Given the description of an element on the screen output the (x, y) to click on. 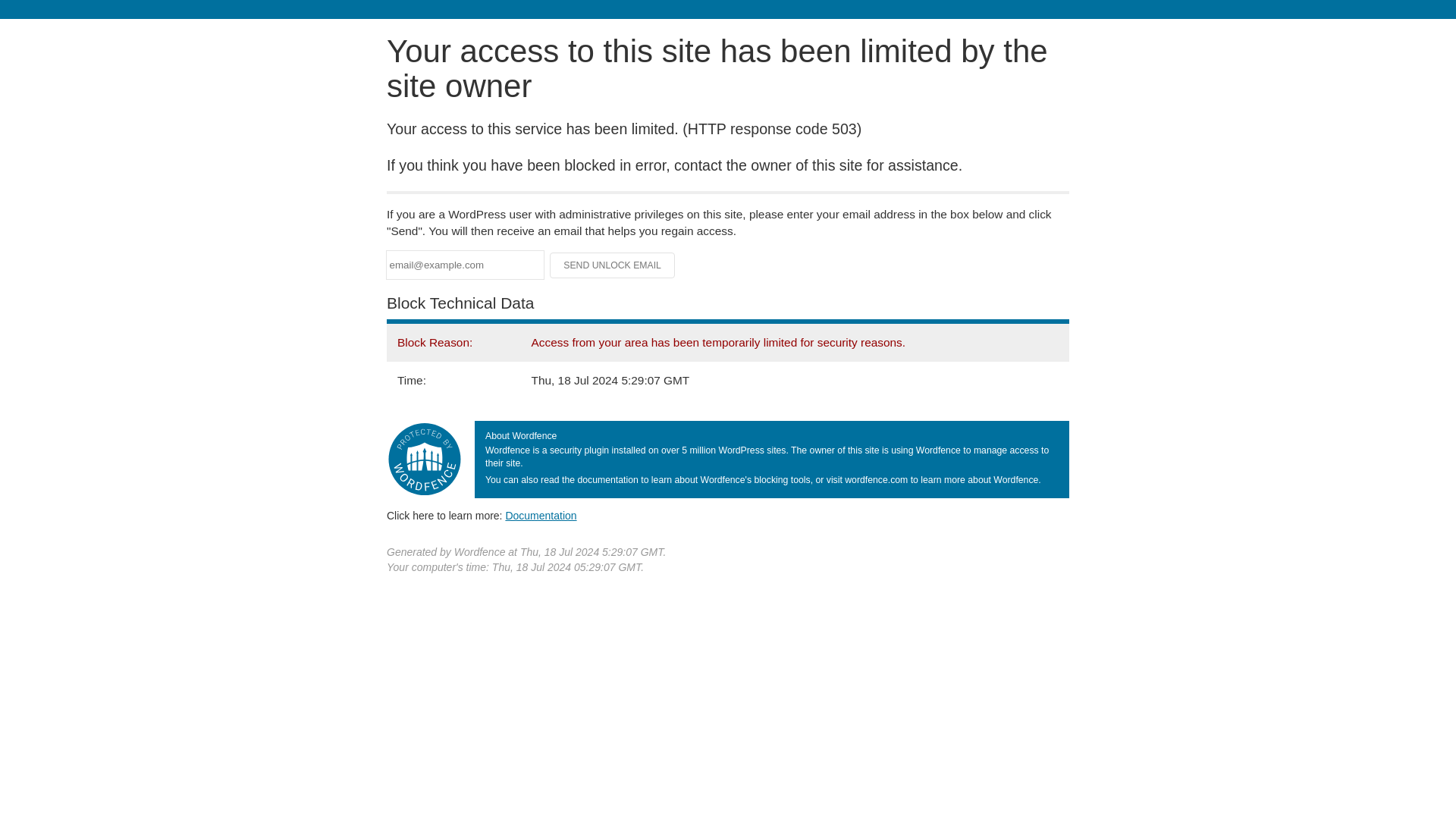
Send Unlock Email (612, 265)
Send Unlock Email (612, 265)
Documentation (540, 515)
